Given the description of an element on the screen output the (x, y) to click on. 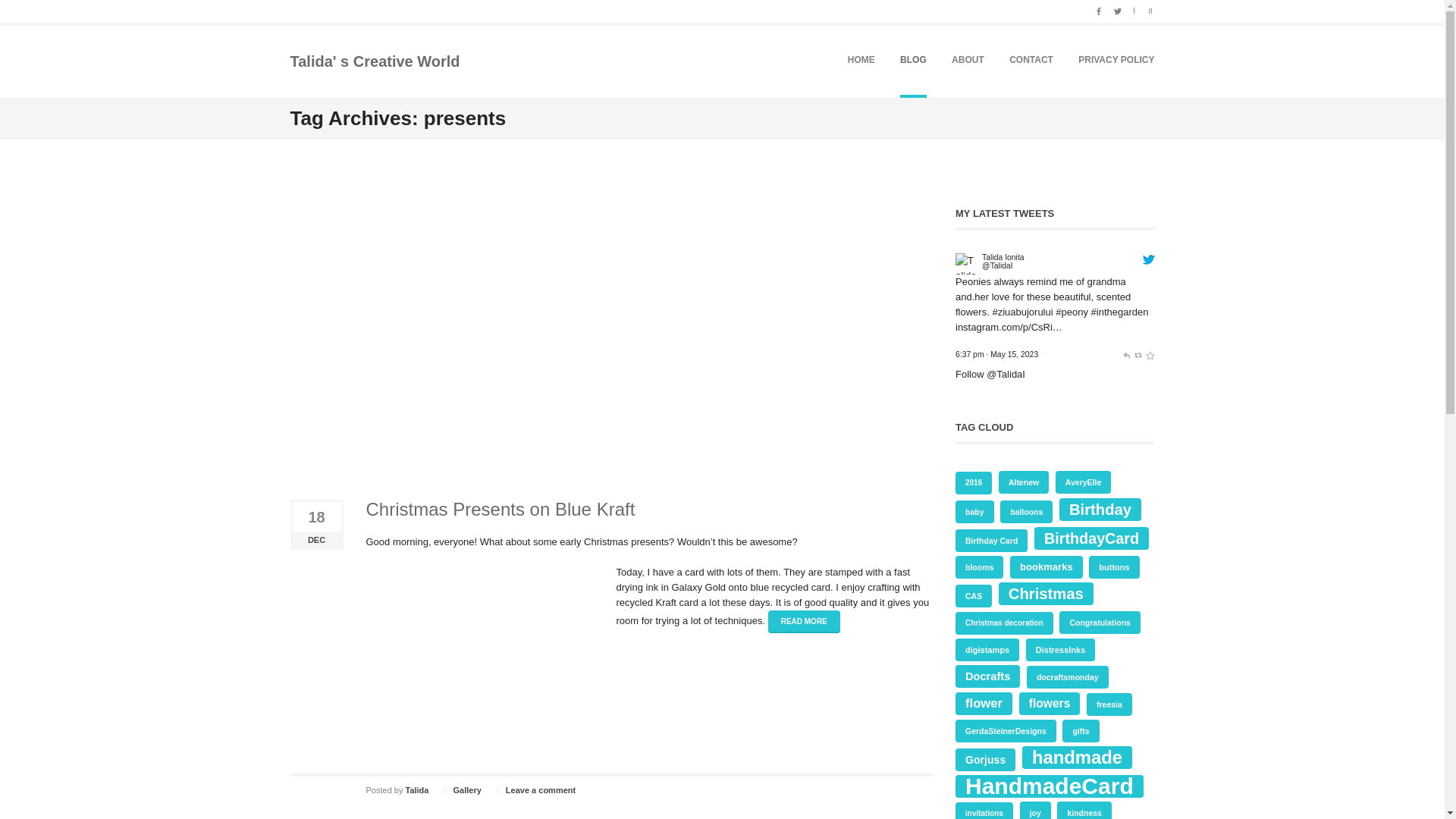
Facebook (1099, 9)
SKIP TO PRIMARY CONTENT (898, 60)
Talida Ionita (965, 264)
Gallery (466, 789)
Leave a comment (540, 789)
SKIP TO SECONDARY CONTENT (906, 60)
Talida' s Creative World (374, 61)
Talida Ionita (1002, 257)
Permalink to Christmas Presents on Blue Kraft (499, 508)
